Given the description of an element on the screen output the (x, y) to click on. 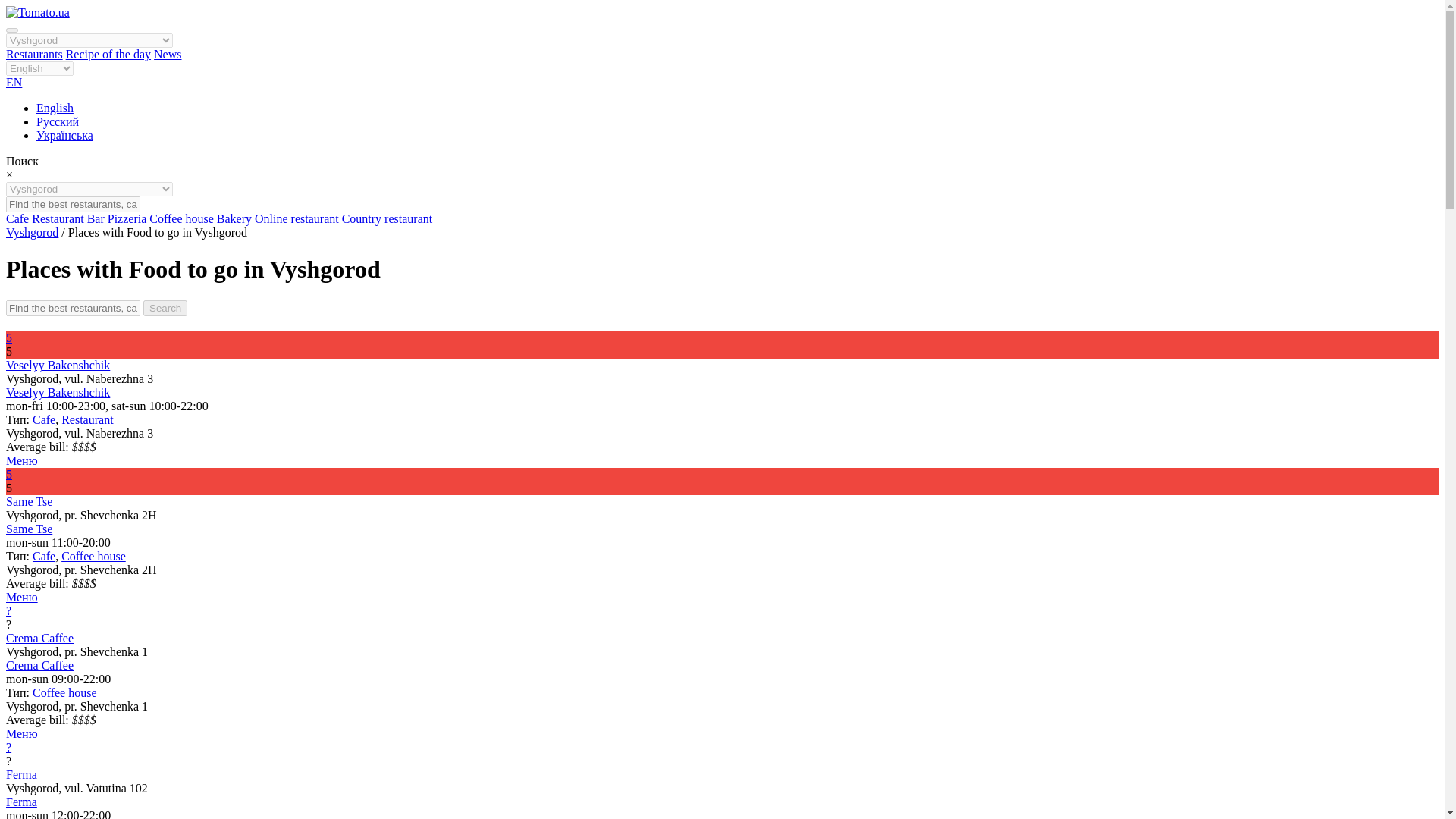
Online restaurant (298, 218)
Coffee house (64, 692)
Coffee house (93, 555)
Pizzeria (128, 218)
Crema Caffee (39, 665)
Ferma (21, 774)
Crema Caffee (39, 637)
English (55, 107)
Search (164, 308)
Cafe (43, 419)
Country restaurant (387, 218)
Veselyy Bakenshchik (57, 364)
Same Tse (28, 528)
EN (13, 82)
Restaurant (87, 419)
